Given the description of an element on the screen output the (x, y) to click on. 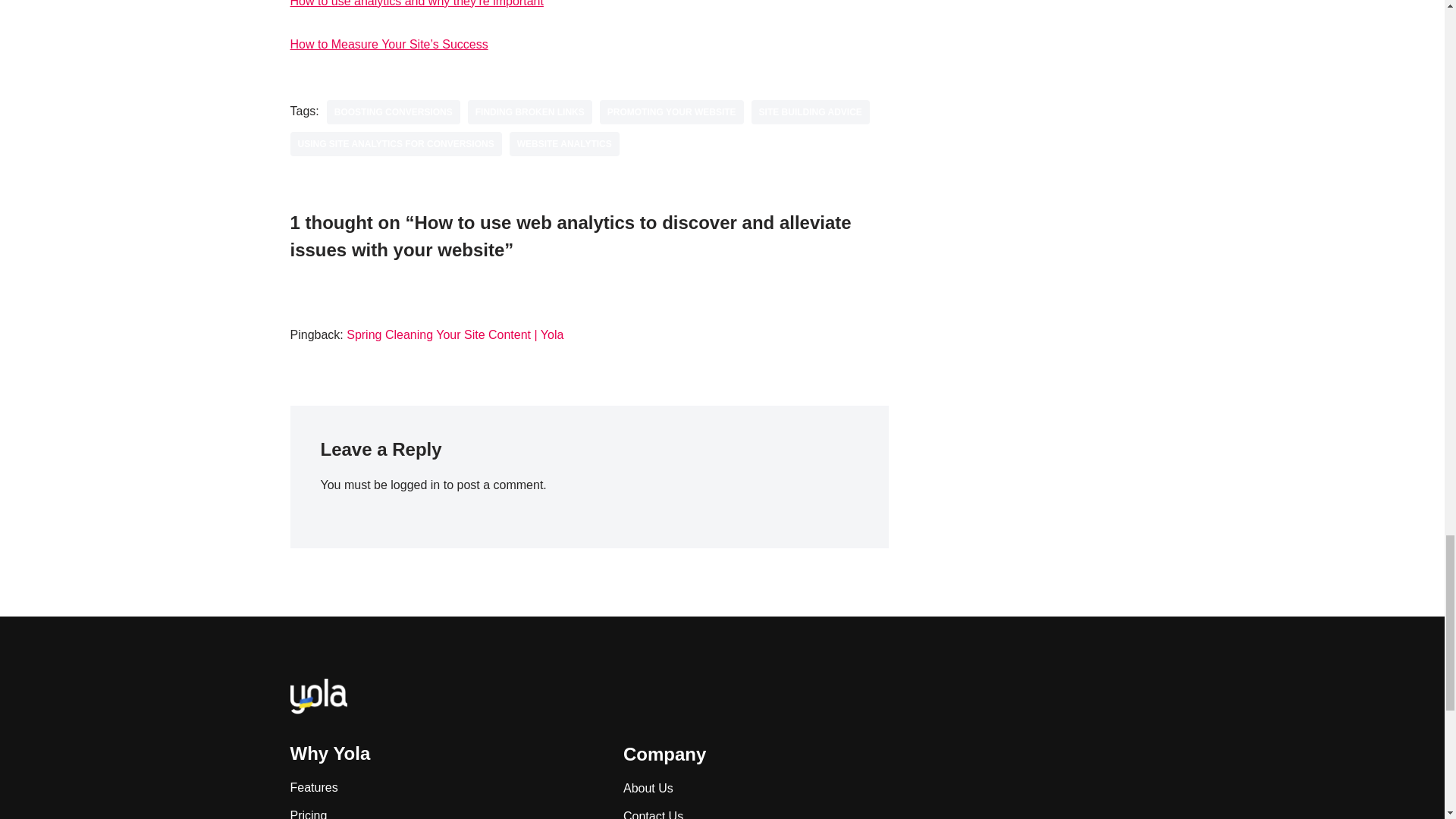
boosting conversions (393, 111)
Promoting Your Website (671, 111)
BOOSTING CONVERSIONS (393, 111)
SITE BUILDING ADVICE (810, 111)
FINDING BROKEN LINKS (529, 111)
PROMOTING YOUR WEBSITE (671, 111)
finding broken links (529, 111)
